Given the description of an element on the screen output the (x, y) to click on. 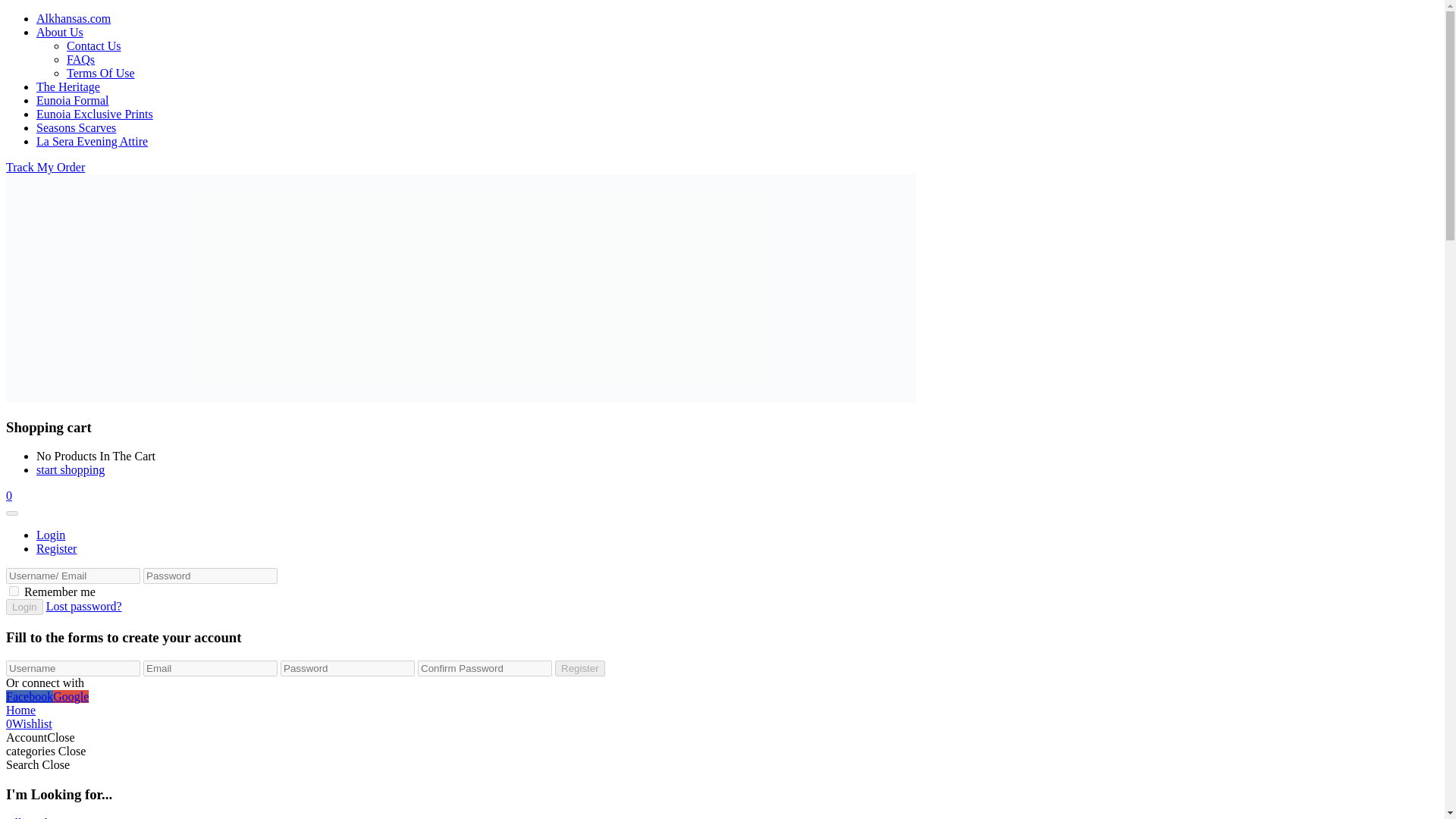
Alkhansas.com (73, 18)
Eunoia Exclusive Prints (94, 113)
Login (24, 606)
Register (56, 548)
Google (70, 696)
FAQs (80, 59)
The Heritage (68, 86)
All Products (35, 817)
0Wishlist (28, 723)
La Sera Evening Attire (92, 141)
Register (579, 668)
Register (579, 668)
Home (19, 709)
Contact Us (93, 45)
Login (50, 534)
